Given the description of an element on the screen output the (x, y) to click on. 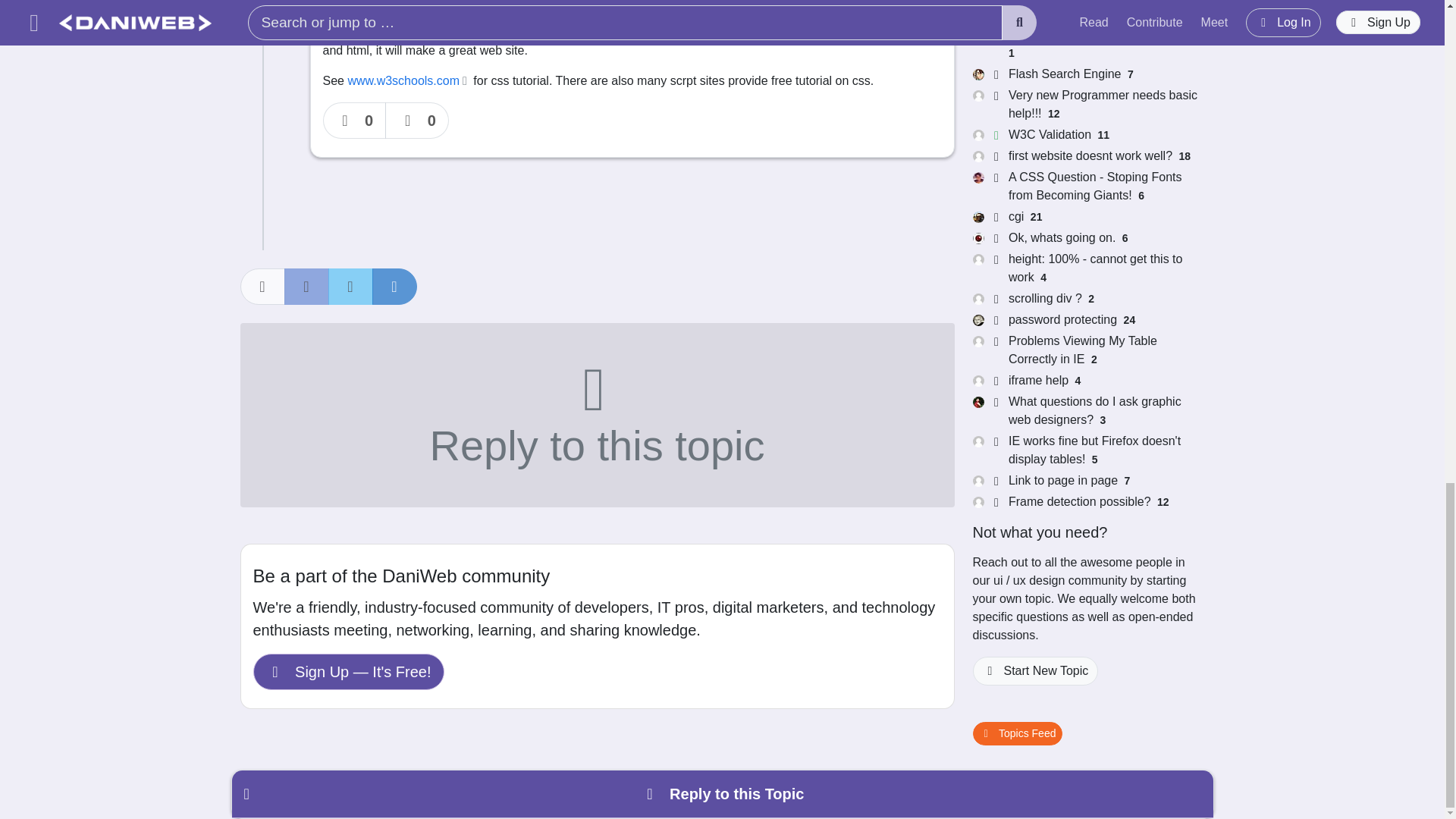
Twitter (349, 286)
www.w3schools.com (407, 80)
Facebook (306, 286)
LinkedIn (393, 286)
Share (261, 286)
Reply to this topic (596, 414)
0 (355, 120)
0 (416, 120)
